Given the description of an element on the screen output the (x, y) to click on. 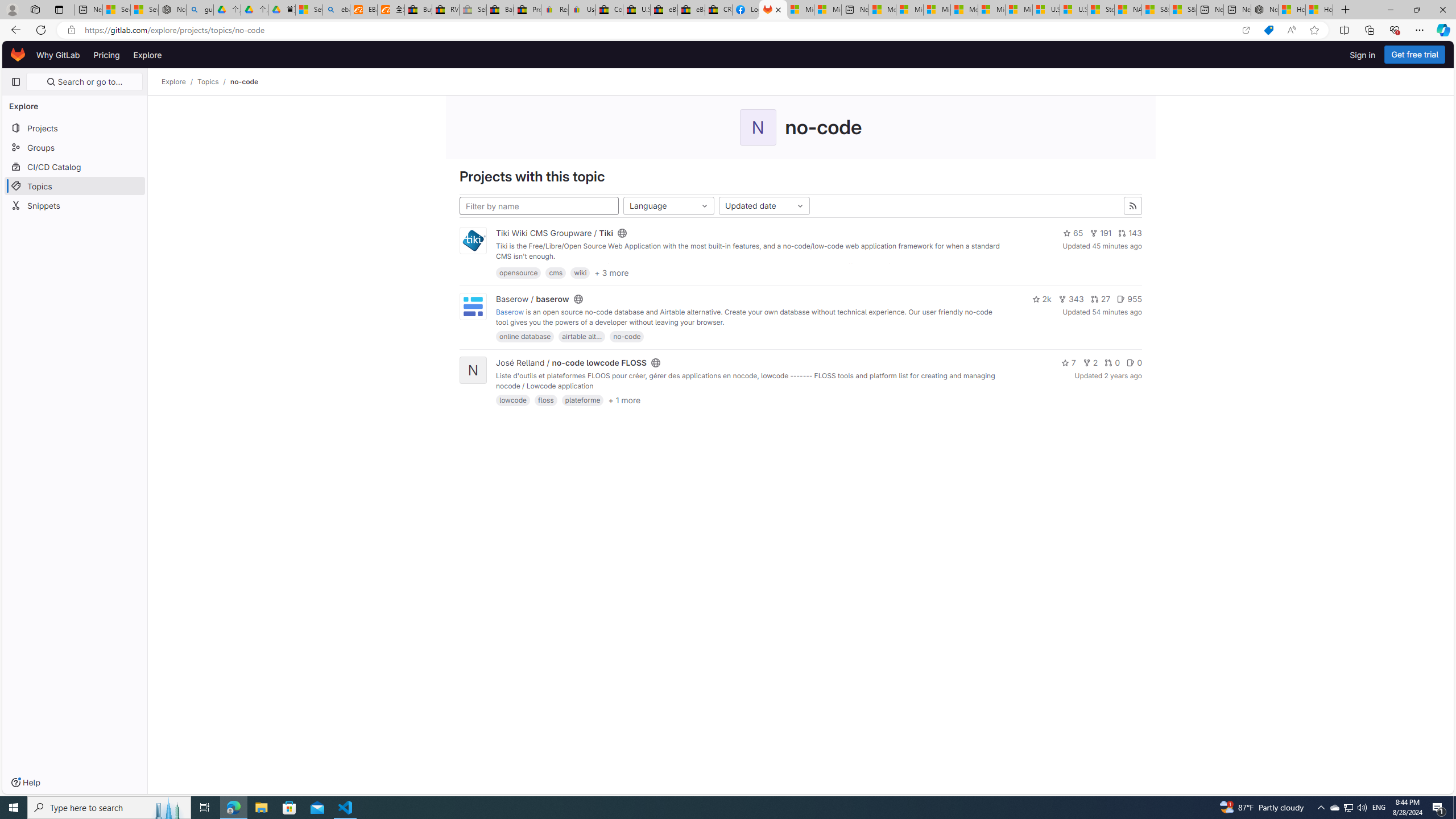
Buy Auto Parts & Accessories | eBay (418, 9)
Microsoft account | Privacy (909, 9)
no-code (626, 336)
Explore (146, 54)
Groups (74, 147)
Shopping in Microsoft Edge (1268, 29)
Baserow (510, 311)
0 (1133, 362)
Tiki Wiki CMS Groupware / Tiki (554, 232)
Class: project (473, 307)
Class: s16 (655, 362)
